Given the description of an element on the screen output the (x, y) to click on. 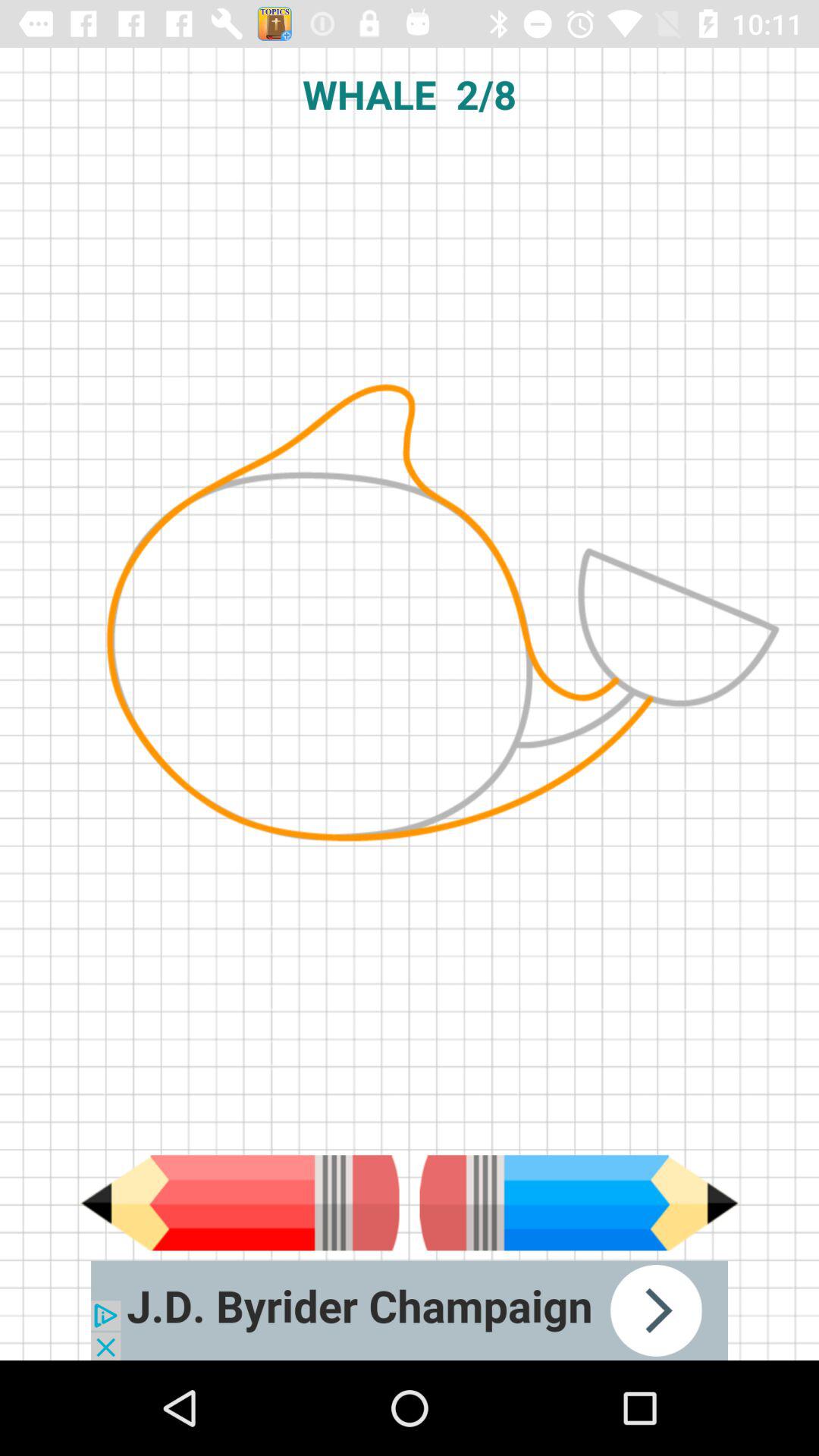
use pencil (239, 1202)
